Given the description of an element on the screen output the (x, y) to click on. 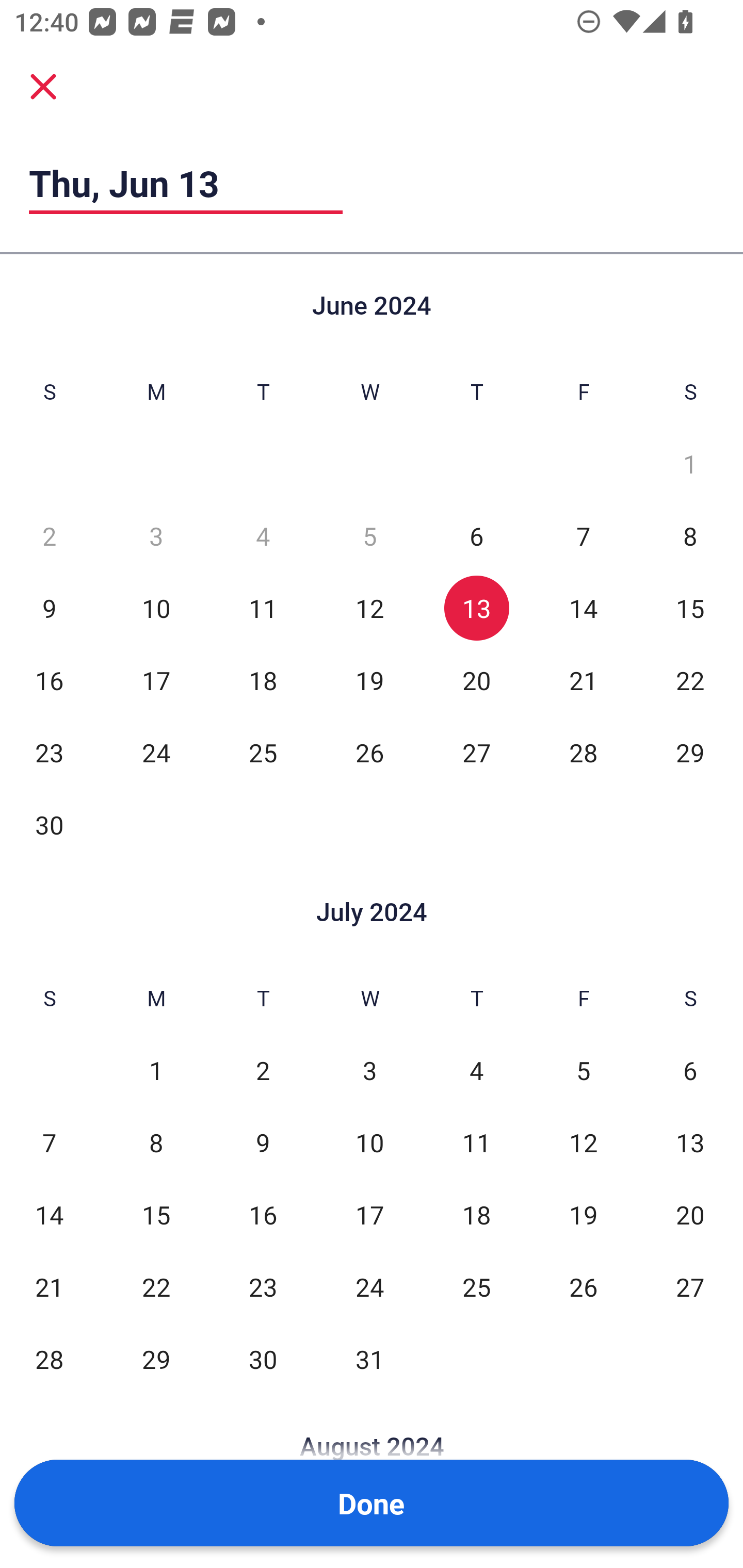
Cancel (43, 86)
Thu, Jun 13 (185, 182)
1 Sat, Jun 1, Not Selected (690, 464)
2 Sun, Jun 2, Not Selected (49, 536)
3 Mon, Jun 3, Not Selected (156, 536)
4 Tue, Jun 4, Not Selected (263, 536)
5 Wed, Jun 5, Not Selected (369, 536)
6 Thu, Jun 6, Not Selected (476, 536)
7 Fri, Jun 7, Not Selected (583, 536)
8 Sat, Jun 8, Not Selected (690, 536)
9 Sun, Jun 9, Not Selected (49, 608)
10 Mon, Jun 10, Not Selected (156, 608)
11 Tue, Jun 11, Not Selected (263, 608)
12 Wed, Jun 12, Not Selected (369, 608)
13 Thu, Jun 13, Selected (476, 608)
14 Fri, Jun 14, Not Selected (583, 608)
15 Sat, Jun 15, Not Selected (690, 608)
16 Sun, Jun 16, Not Selected (49, 680)
17 Mon, Jun 17, Not Selected (156, 680)
18 Tue, Jun 18, Not Selected (263, 680)
19 Wed, Jun 19, Not Selected (369, 680)
20 Thu, Jun 20, Not Selected (476, 680)
21 Fri, Jun 21, Not Selected (583, 680)
22 Sat, Jun 22, Not Selected (690, 680)
23 Sun, Jun 23, Not Selected (49, 752)
24 Mon, Jun 24, Not Selected (156, 752)
25 Tue, Jun 25, Not Selected (263, 752)
26 Wed, Jun 26, Not Selected (369, 752)
27 Thu, Jun 27, Not Selected (476, 752)
28 Fri, Jun 28, Not Selected (583, 752)
29 Sat, Jun 29, Not Selected (690, 752)
30 Sun, Jun 30, Not Selected (49, 824)
1 Mon, Jul 1, Not Selected (156, 1070)
2 Tue, Jul 2, Not Selected (263, 1070)
3 Wed, Jul 3, Not Selected (369, 1070)
4 Thu, Jul 4, Not Selected (476, 1070)
5 Fri, Jul 5, Not Selected (583, 1070)
6 Sat, Jul 6, Not Selected (690, 1070)
7 Sun, Jul 7, Not Selected (49, 1143)
8 Mon, Jul 8, Not Selected (156, 1143)
9 Tue, Jul 9, Not Selected (263, 1143)
10 Wed, Jul 10, Not Selected (369, 1143)
11 Thu, Jul 11, Not Selected (476, 1143)
12 Fri, Jul 12, Not Selected (583, 1143)
13 Sat, Jul 13, Not Selected (690, 1143)
14 Sun, Jul 14, Not Selected (49, 1215)
15 Mon, Jul 15, Not Selected (156, 1215)
16 Tue, Jul 16, Not Selected (263, 1215)
17 Wed, Jul 17, Not Selected (369, 1215)
18 Thu, Jul 18, Not Selected (476, 1215)
